Given the description of an element on the screen output the (x, y) to click on. 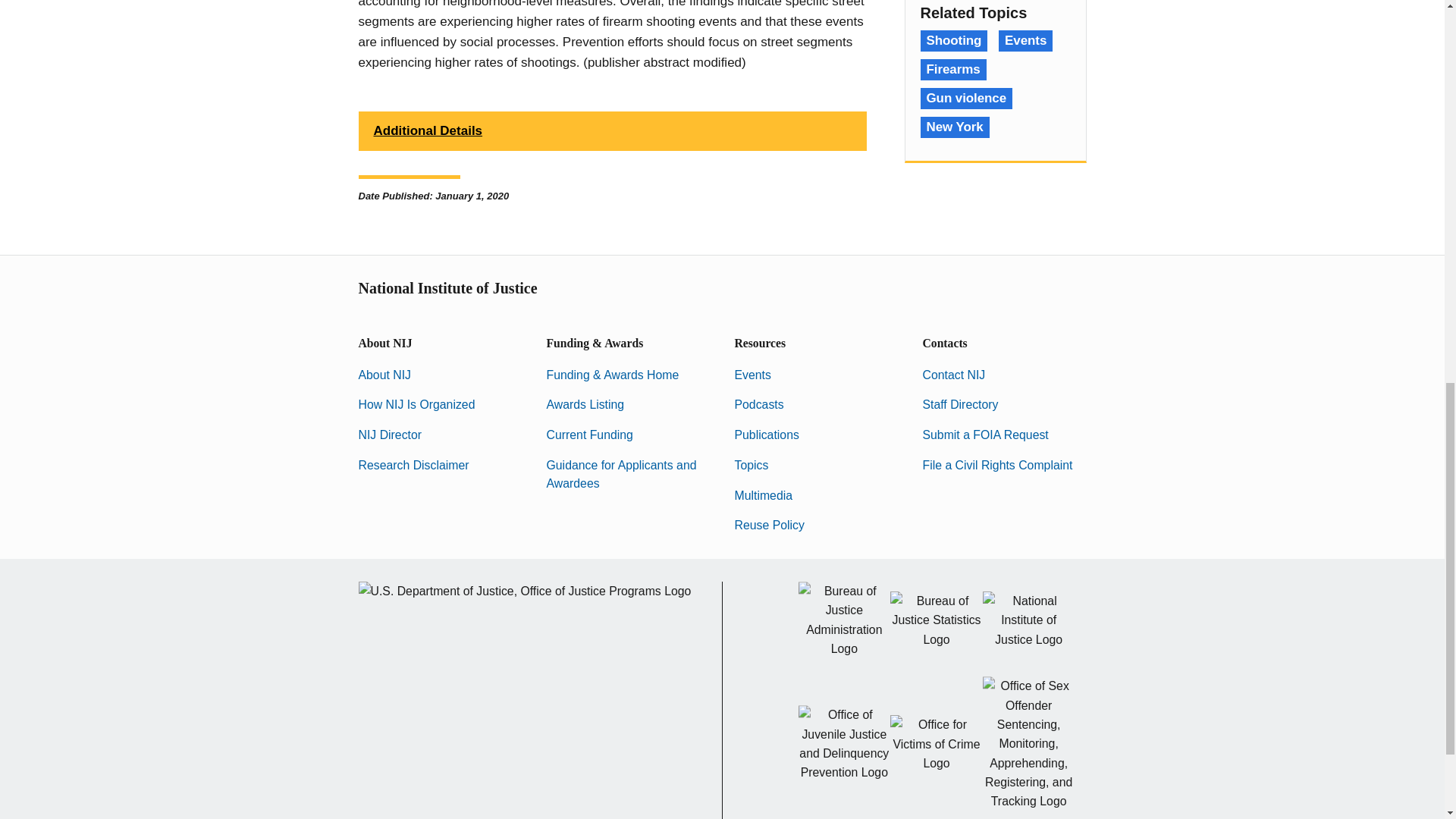
Shooting (954, 40)
Additional Details (612, 130)
Events (1025, 40)
